Given the description of an element on the screen output the (x, y) to click on. 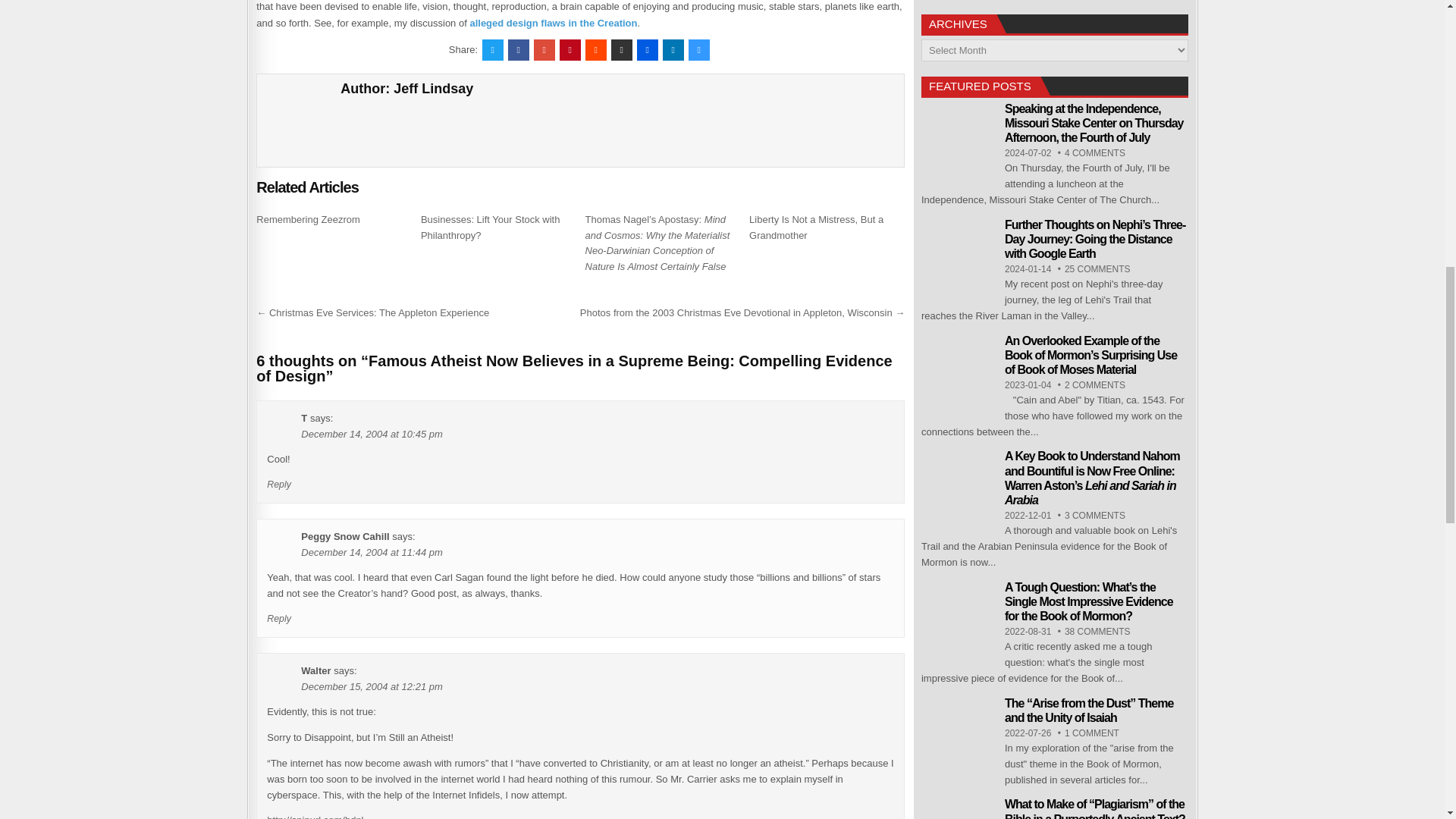
Share this on Facebook (518, 49)
Share this on VK (621, 49)
Share this on Delicious (699, 49)
Share this on Reddit (596, 49)
Share this on Linkedin (673, 49)
Share this on Digg (647, 49)
Tweet This! (492, 49)
Remembering Zeezrom (307, 219)
Businesses: Lift Your Stock with Philanthropy? (490, 226)
